Given the description of an element on the screen output the (x, y) to click on. 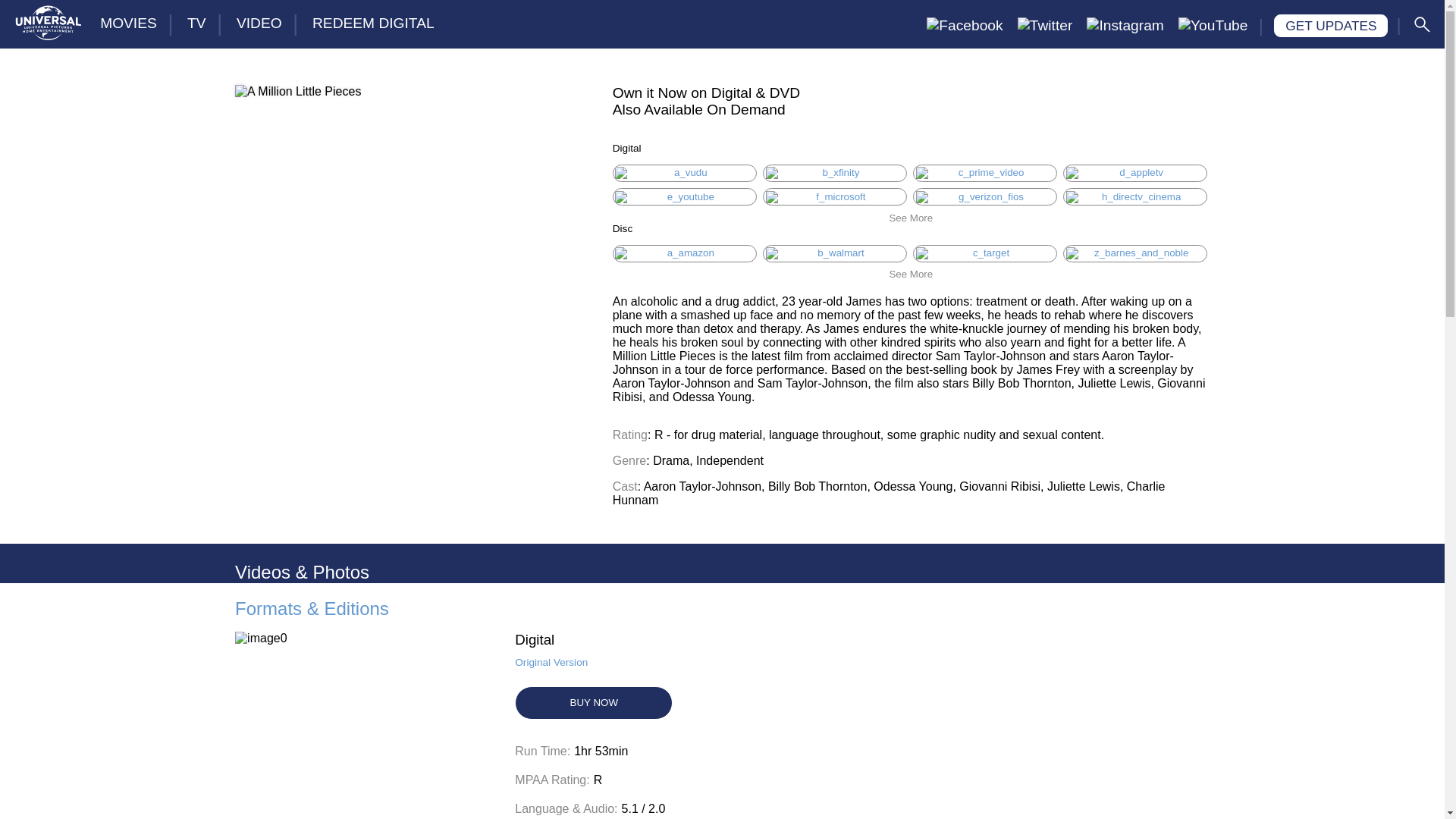
GET UPDATES (1330, 25)
A Million Little Pieces (297, 110)
MOVIES (127, 23)
REDEEM DIGITAL (373, 23)
VIDEO (259, 23)
TV (196, 23)
